Given the description of an element on the screen output the (x, y) to click on. 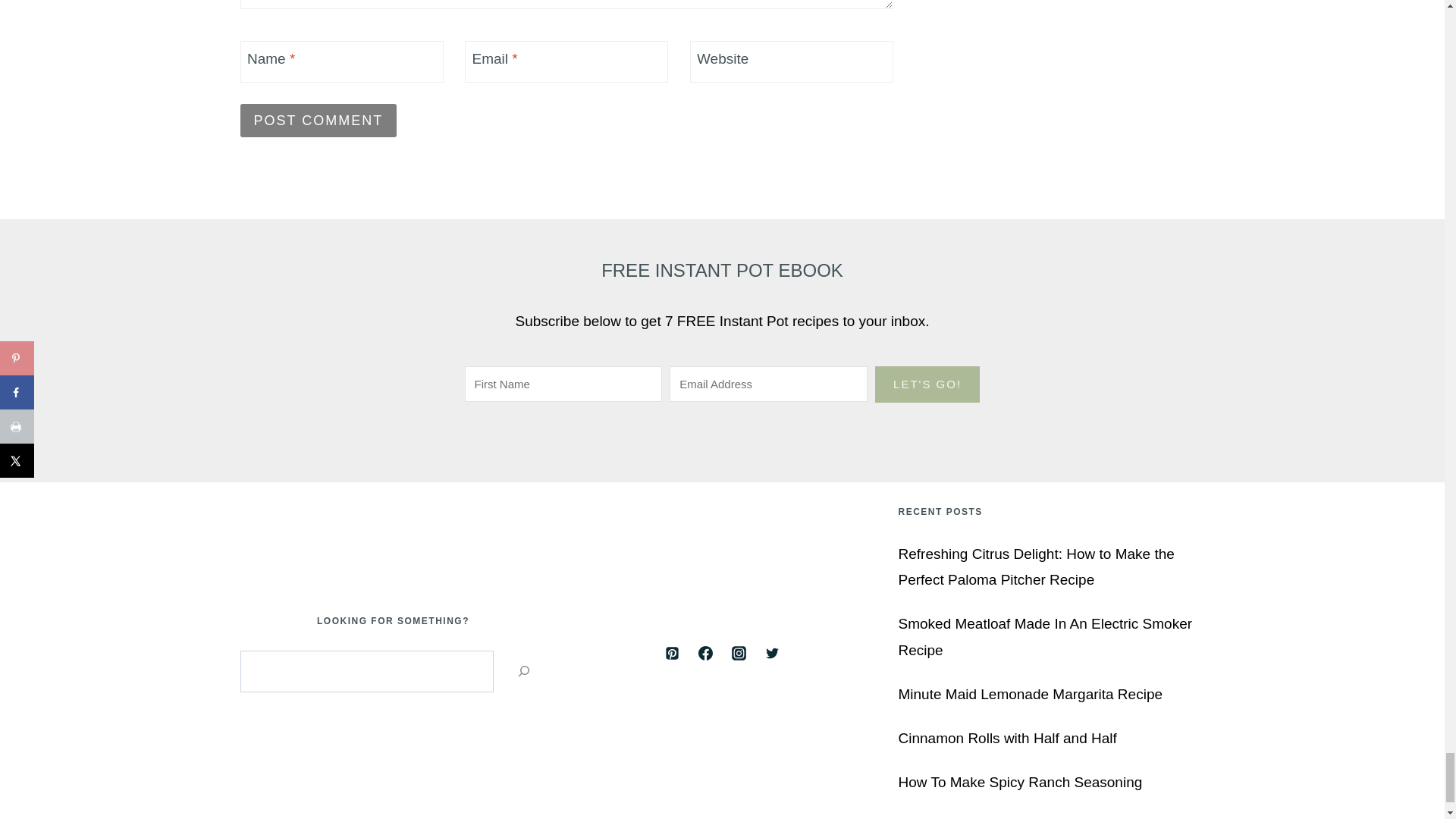
Post Comment (318, 120)
